Given the description of an element on the screen output the (x, y) to click on. 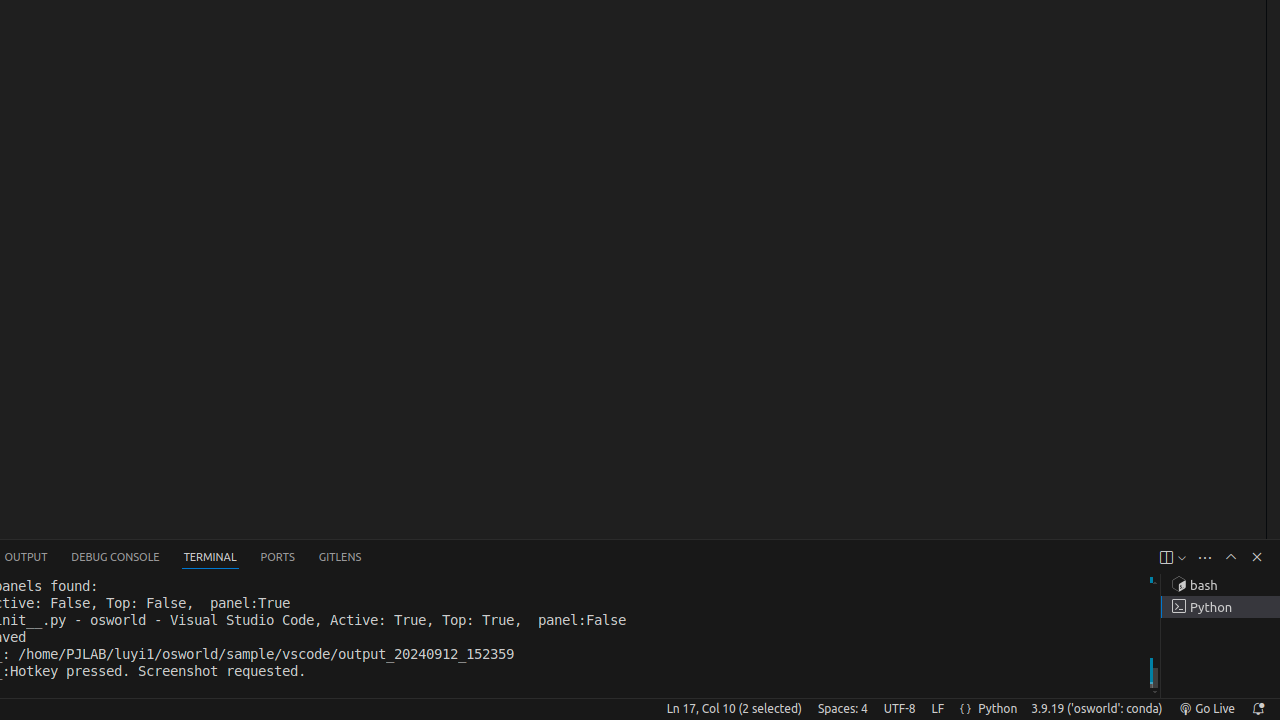
UTF-8 Element type: push-button (899, 709)
3.9.19 ('osworld': conda), ~/anaconda3/envs/osworld/bin/python Element type: push-button (1097, 709)
Launch Profile... Element type: push-button (1182, 557)
Terminal (Ctrl+`) Element type: page-tab (210, 557)
Editor Language Status: Auto Import Completions: false Element type: push-button (965, 709)
